Given the description of an element on the screen output the (x, y) to click on. 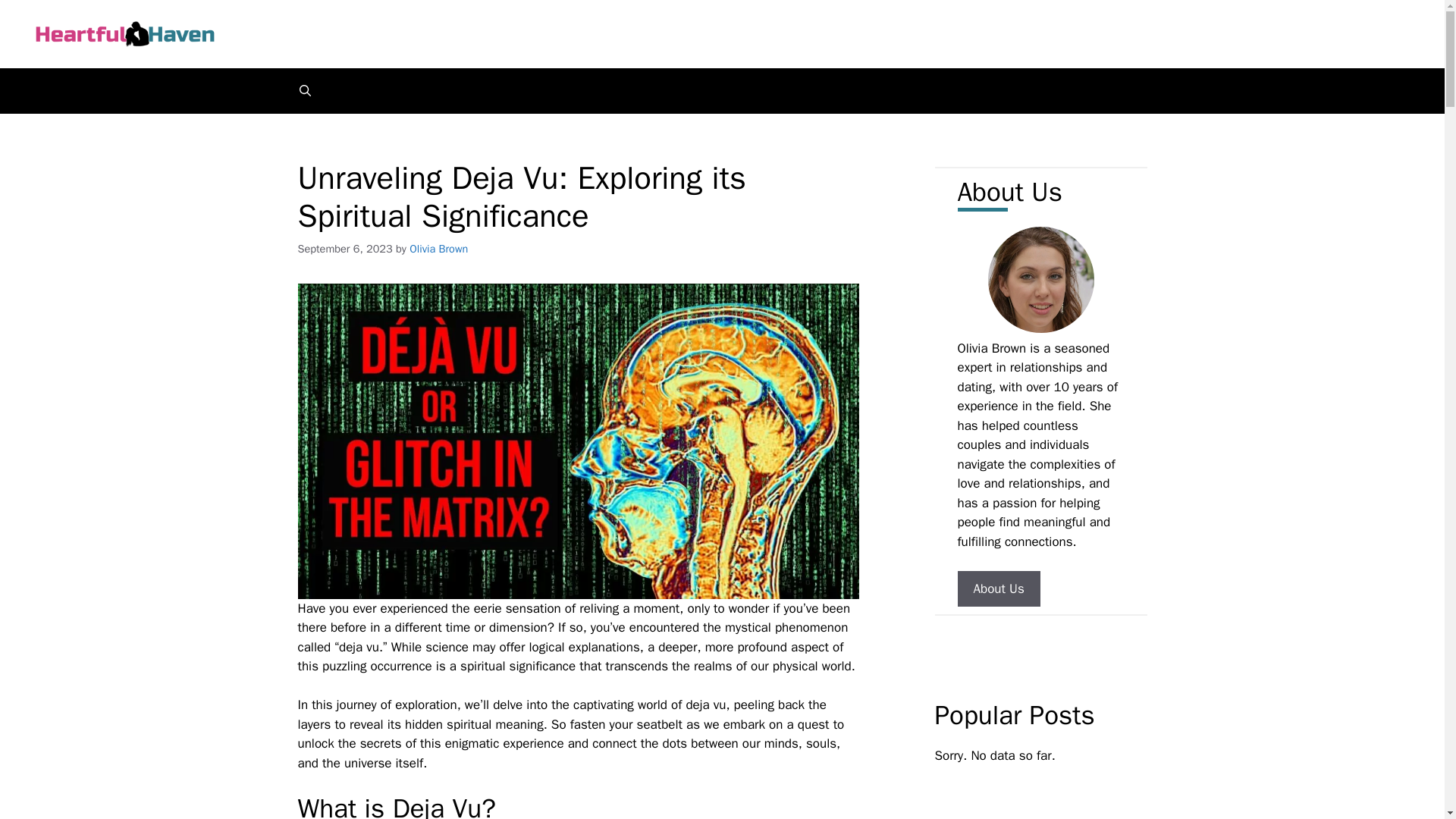
Olivia Brown (438, 248)
View all posts by Olivia Brown (438, 248)
About Us (997, 588)
